Given the description of an element on the screen output the (x, y) to click on. 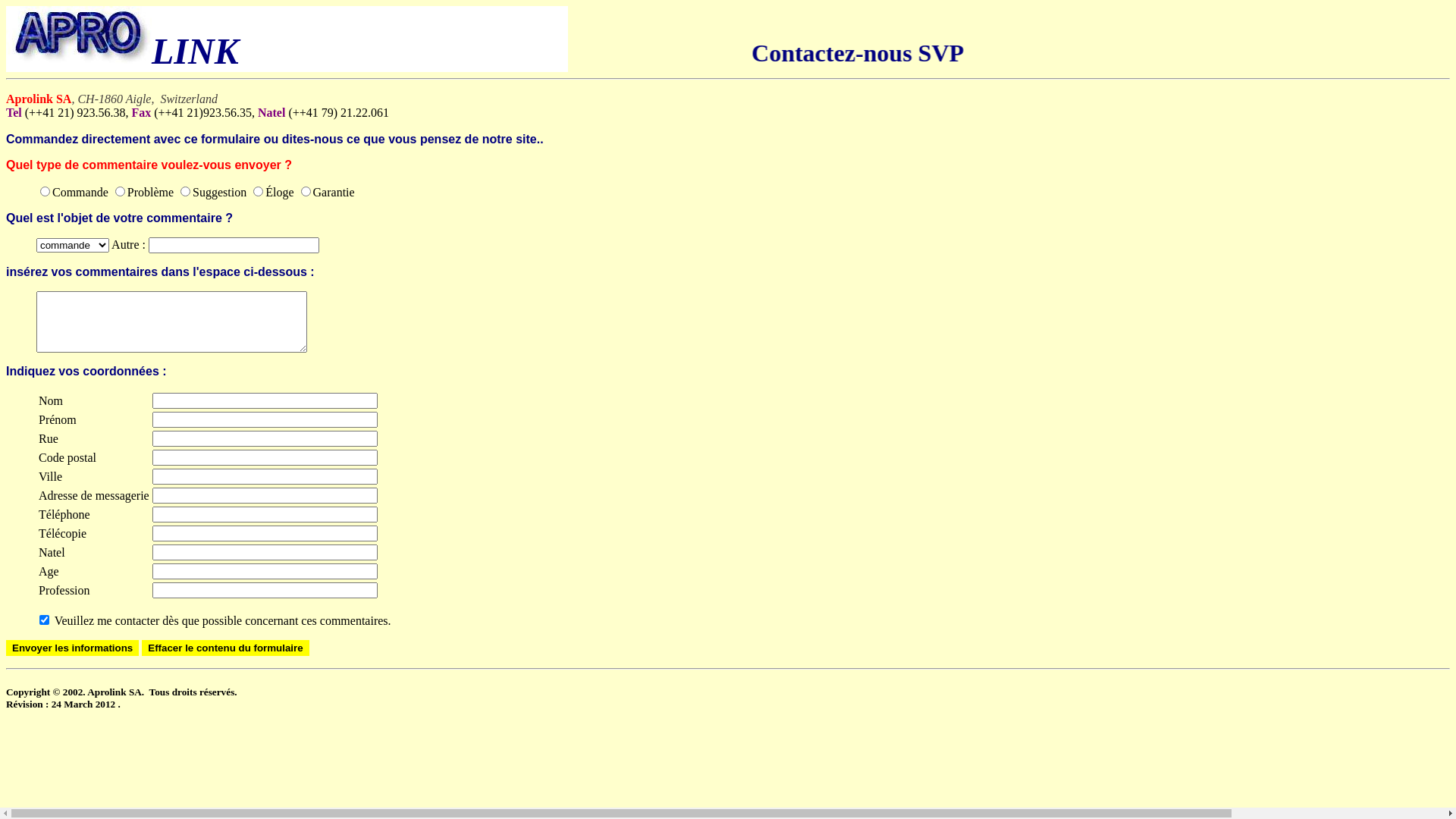
Envoyer les informations Element type: text (72, 647)
